Given the description of an element on the screen output the (x, y) to click on. 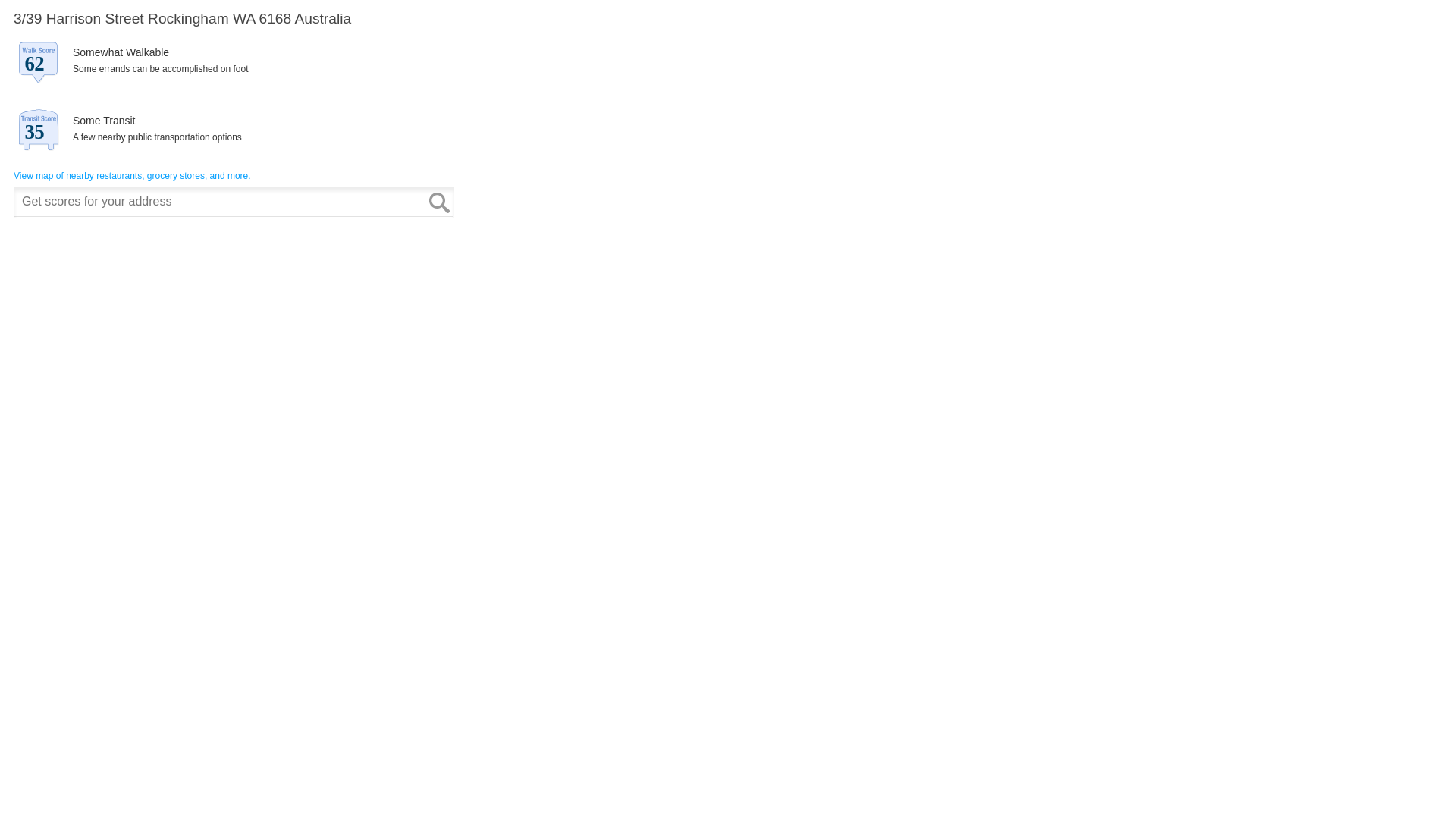
Walk Score Element type: hover (233, 114)
